Given the description of an element on the screen output the (x, y) to click on. 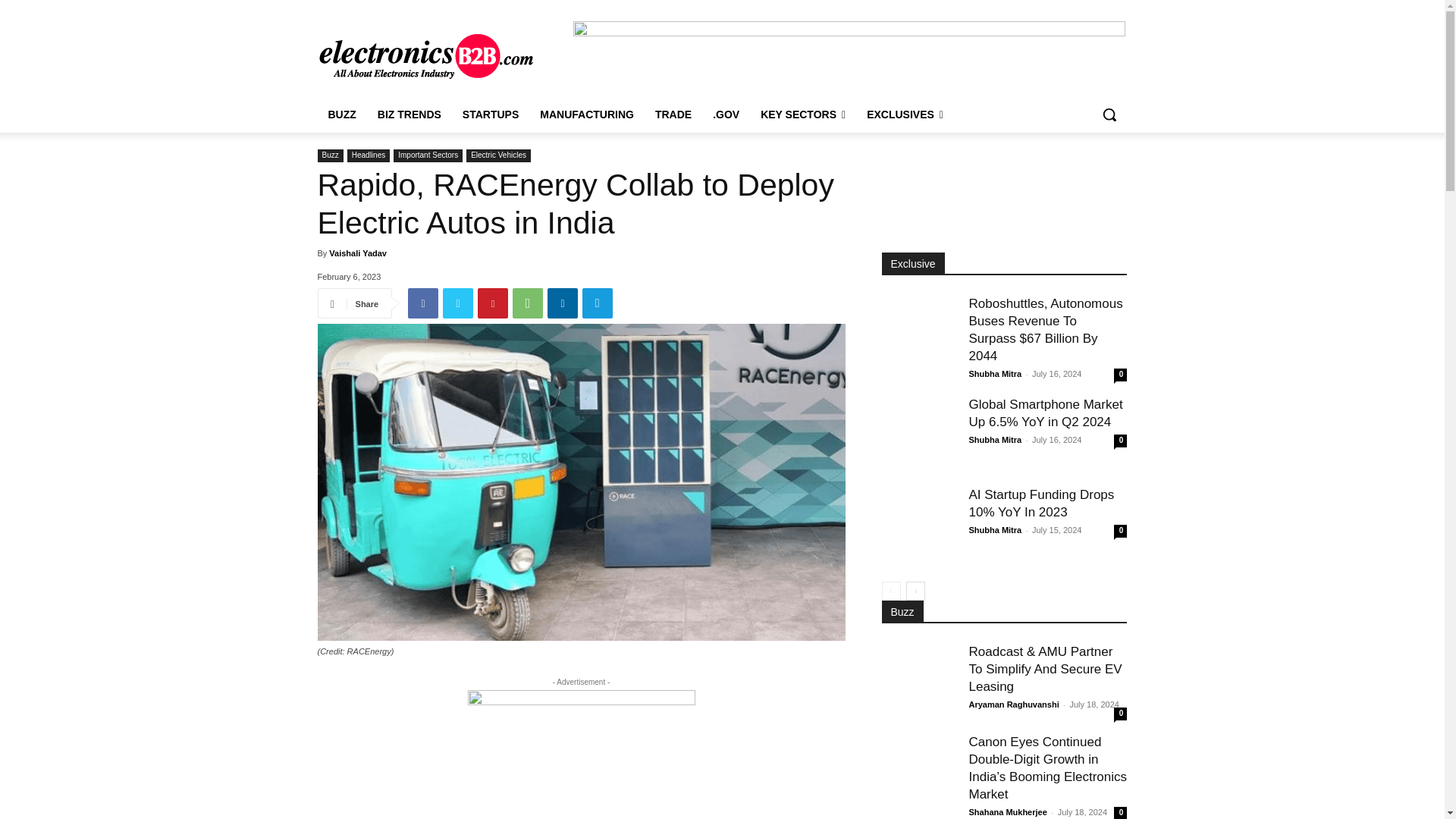
BUZZ (341, 114)
Twitter (457, 303)
Facebook (422, 303)
Linkedin (562, 303)
TRADE (673, 114)
KEY SECTORS (802, 114)
Pinterest (492, 303)
MANUFACTURING (587, 114)
Telegram (597, 303)
BIZ TRENDS (408, 114)
STARTUPS (490, 114)
.GOV (725, 114)
WhatsApp (527, 303)
